Given the description of an element on the screen output the (x, y) to click on. 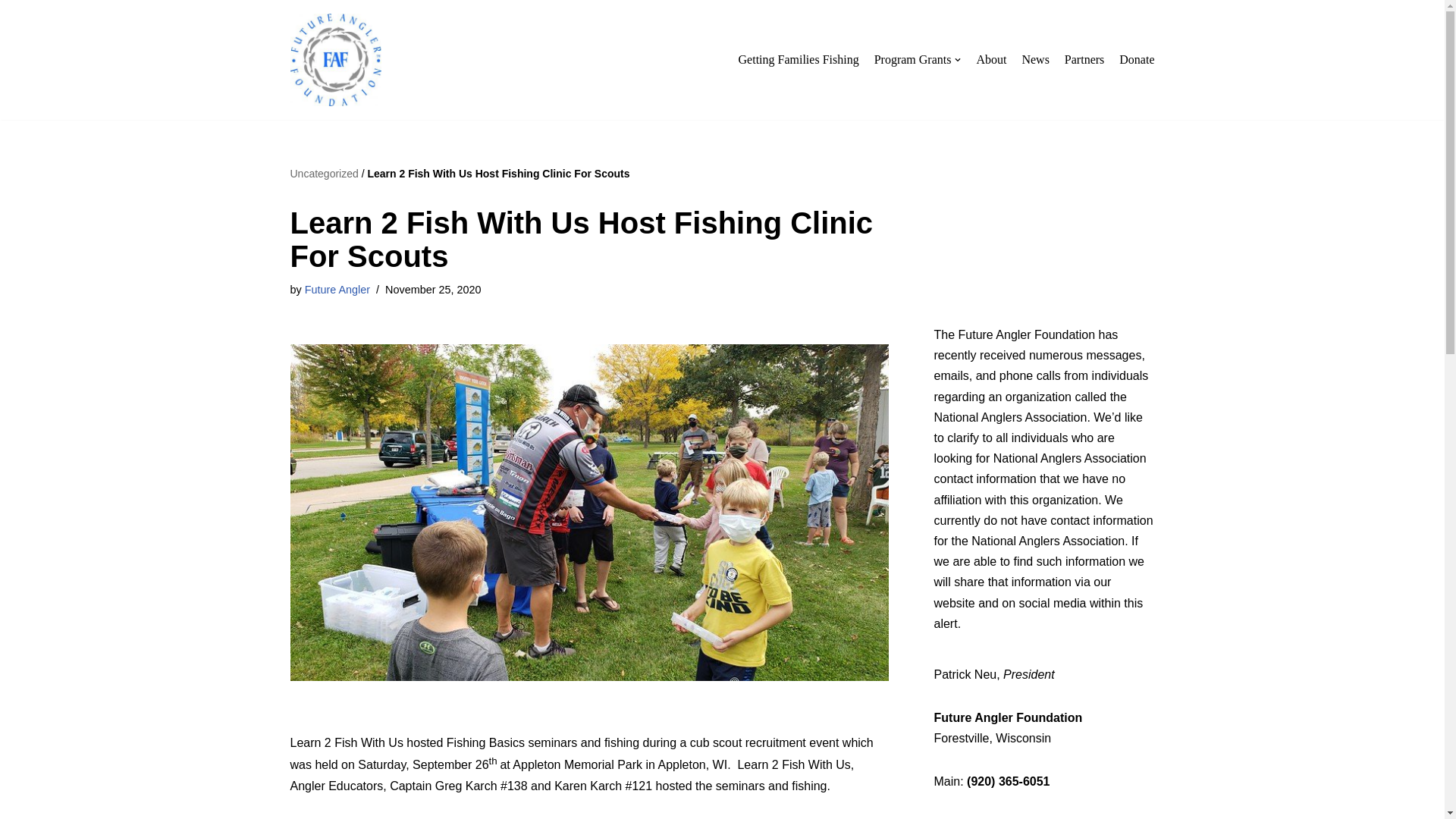
Future Angler (336, 289)
Getting Families Fishing (798, 59)
News (1035, 59)
Skip to content (11, 31)
Future Angler Foundation (334, 59)
Program Grants (917, 59)
Posts by Future Angler (336, 289)
About (990, 59)
Donate (1136, 59)
Partners (1083, 59)
